Given the description of an element on the screen output the (x, y) to click on. 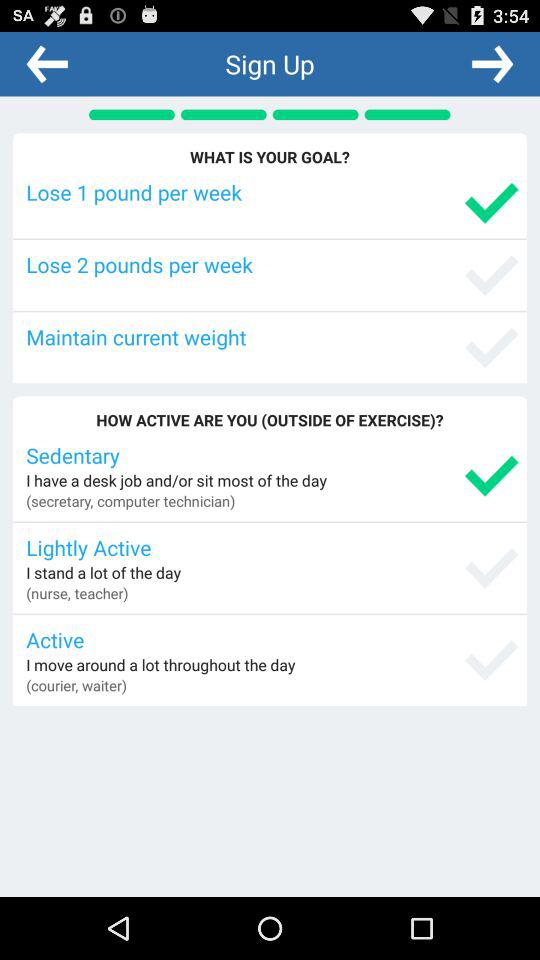
open the app below the active icon (160, 664)
